Given the description of an element on the screen output the (x, y) to click on. 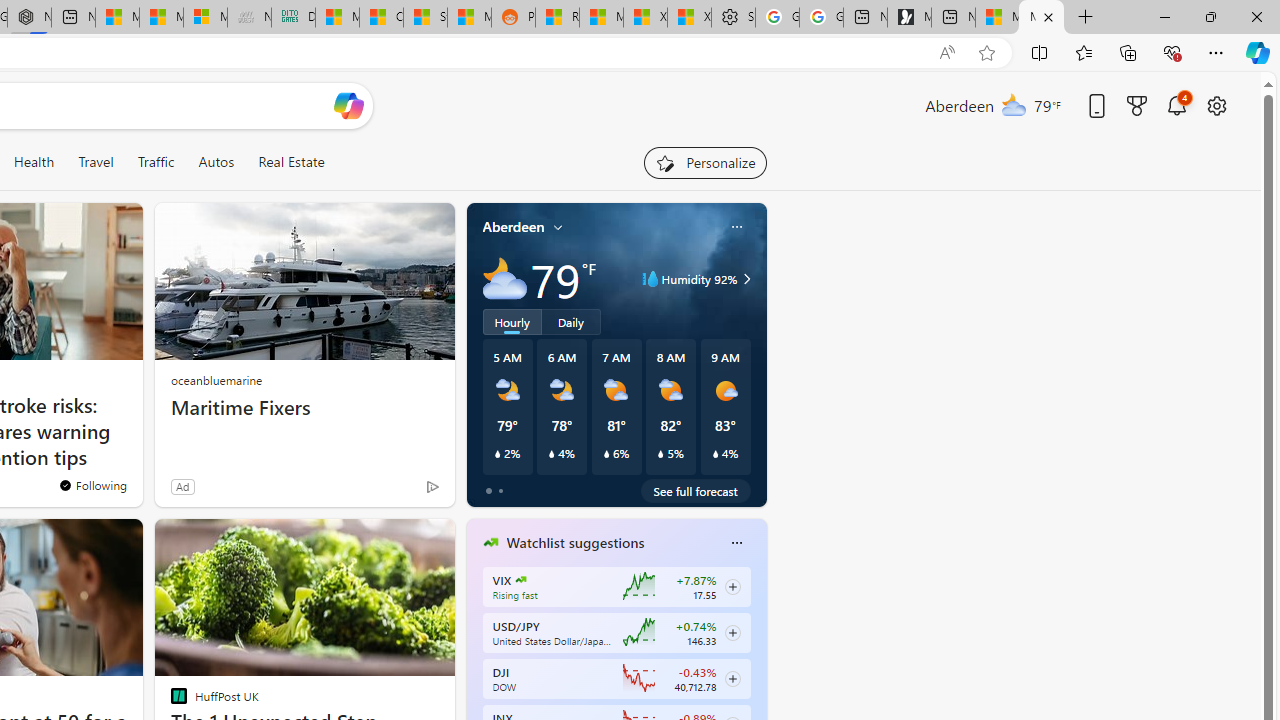
CBOE Market Volatility Index (520, 579)
Mostly cloudy (504, 278)
Class: weather-arrow-glyph (746, 278)
oceanbluemarine (216, 380)
You're following FOX News (92, 485)
